Given the description of an element on the screen output the (x, y) to click on. 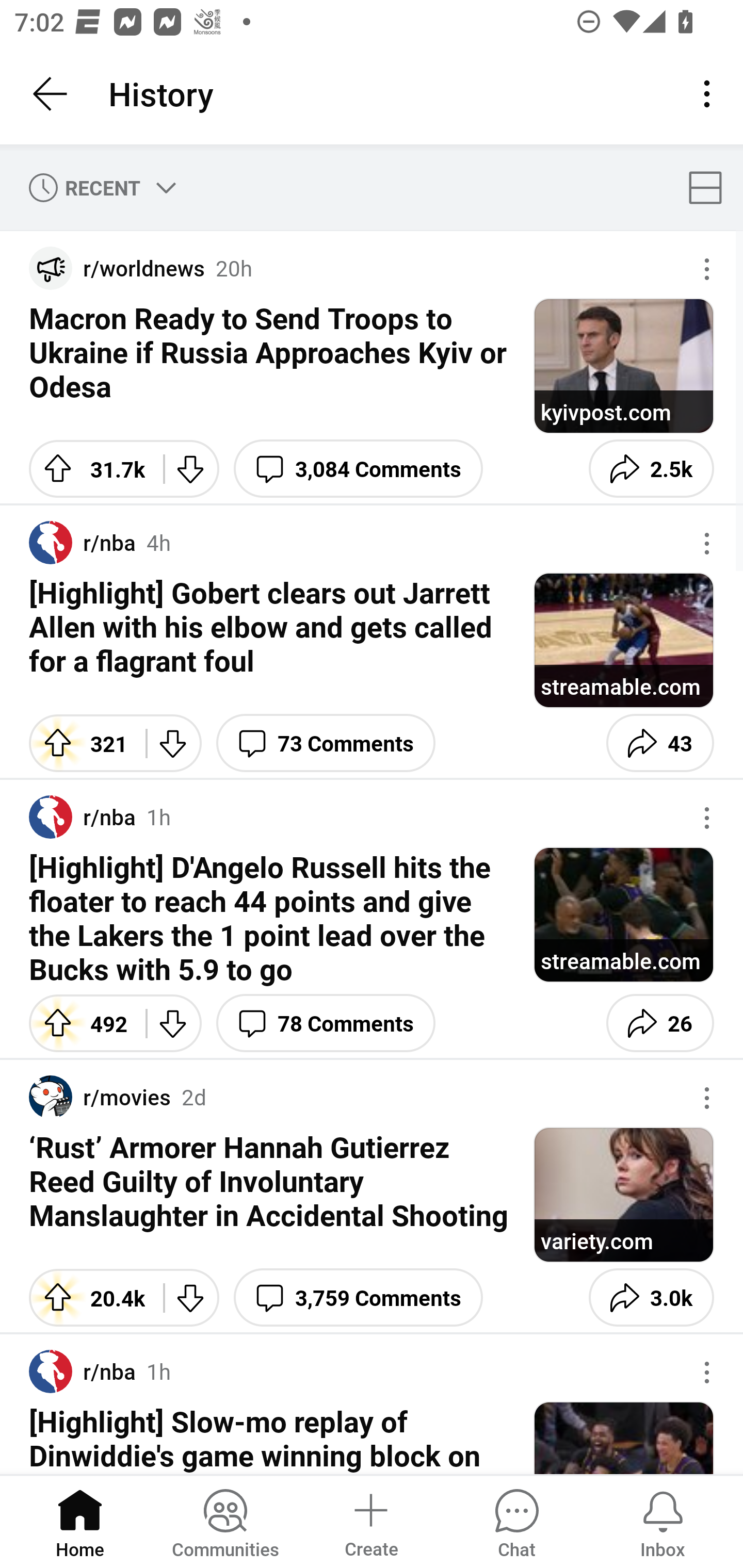
More options (710, 93)
RECENT (99, 187)
Card display (711, 187)
Avatar r/worldnews (116, 267)
Overflow menu (706, 268)
Thumbnail image kyivpost.com (623, 365)
Upvote 31.7k (88, 468)
Downvote (191, 468)
3,084 Comments (358, 468)
Share 2.5k (651, 468)
Avatar r/nba (81, 542)
Overflow menu (706, 543)
Thumbnail image streamable.com (623, 640)
Upvote 321 (79, 742)
Downvote (173, 742)
73 Comments (325, 742)
Share 43 (660, 742)
Avatar r/nba (81, 816)
Overflow menu (706, 817)
Thumbnail image streamable.com (623, 914)
Upvote 492 (79, 1022)
Downvote (173, 1022)
78 Comments (325, 1022)
Share 26 (660, 1022)
Avatar r/movies (99, 1097)
Overflow menu (706, 1098)
Thumbnail image variety.com (623, 1194)
Upvote 20.4k (88, 1297)
Downvote (191, 1297)
3,759 Comments (358, 1297)
Share 3.0k (651, 1297)
Avatar r/nba (81, 1371)
Overflow menu (706, 1372)
Thumbnail image (623, 1437)
Home (80, 1520)
Communities (225, 1520)
Create a post Create (370, 1520)
Chat (516, 1520)
Inbox (662, 1520)
